Given the description of an element on the screen output the (x, y) to click on. 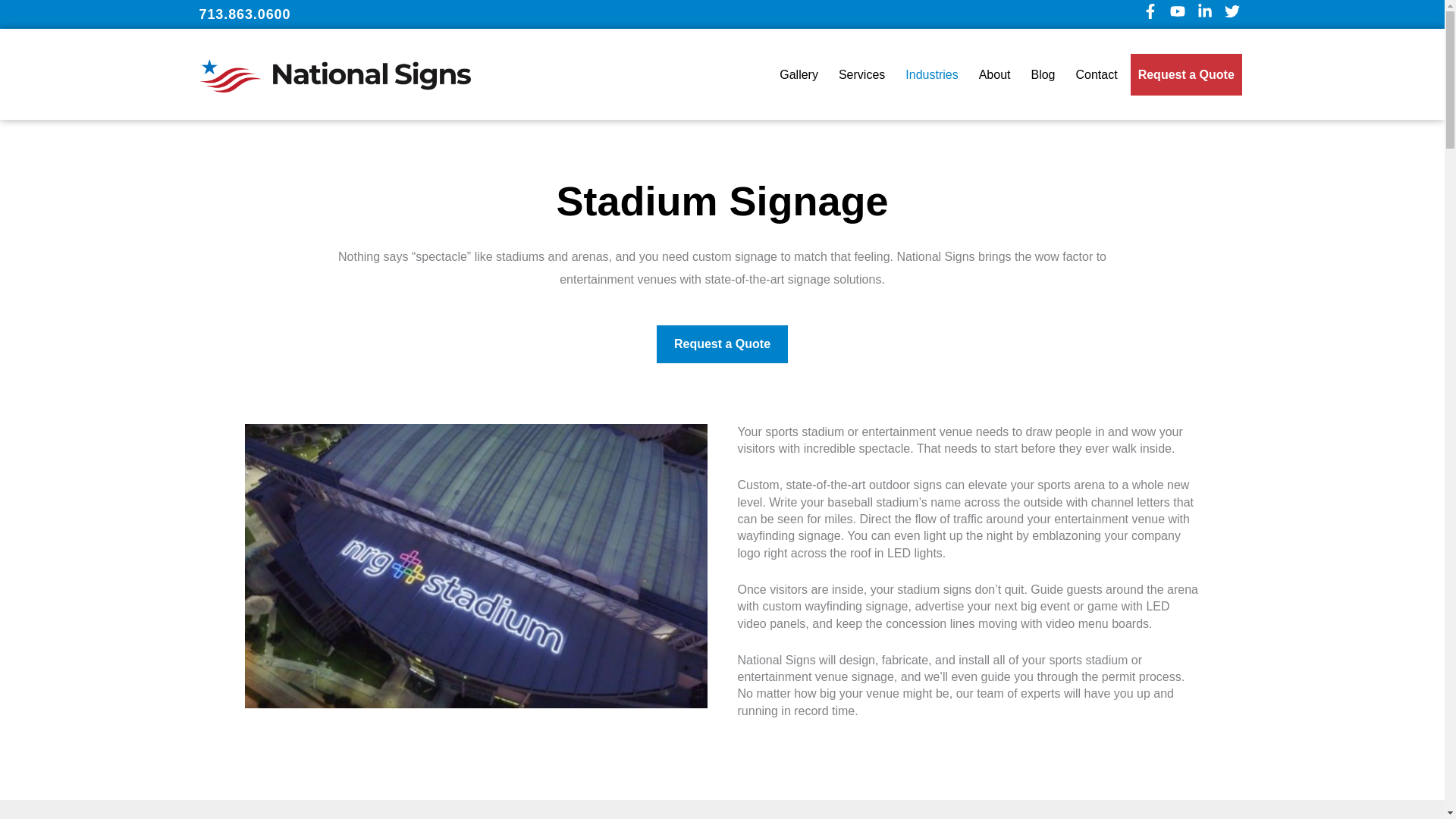
Industries (931, 74)
Twitter (1234, 14)
Services (861, 74)
Blog (1042, 74)
Request a Quote (1186, 74)
Youtube (1180, 14)
About (994, 74)
Gallery (798, 74)
Facebook-f (1152, 14)
713.863.0600 (243, 14)
